Given the description of an element on the screen output the (x, y) to click on. 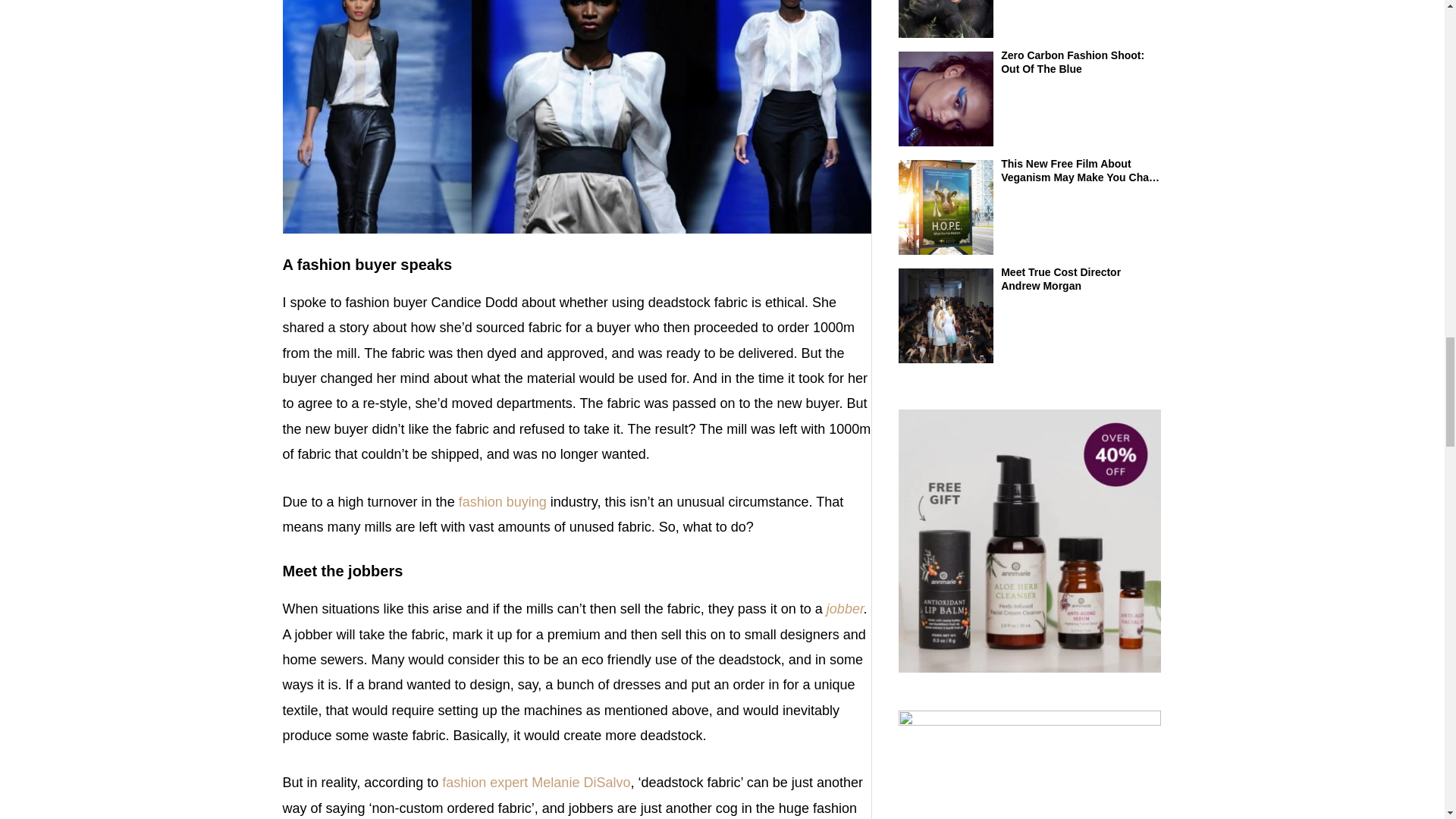
Fashion Buying (502, 501)
